Given the description of an element on the screen output the (x, y) to click on. 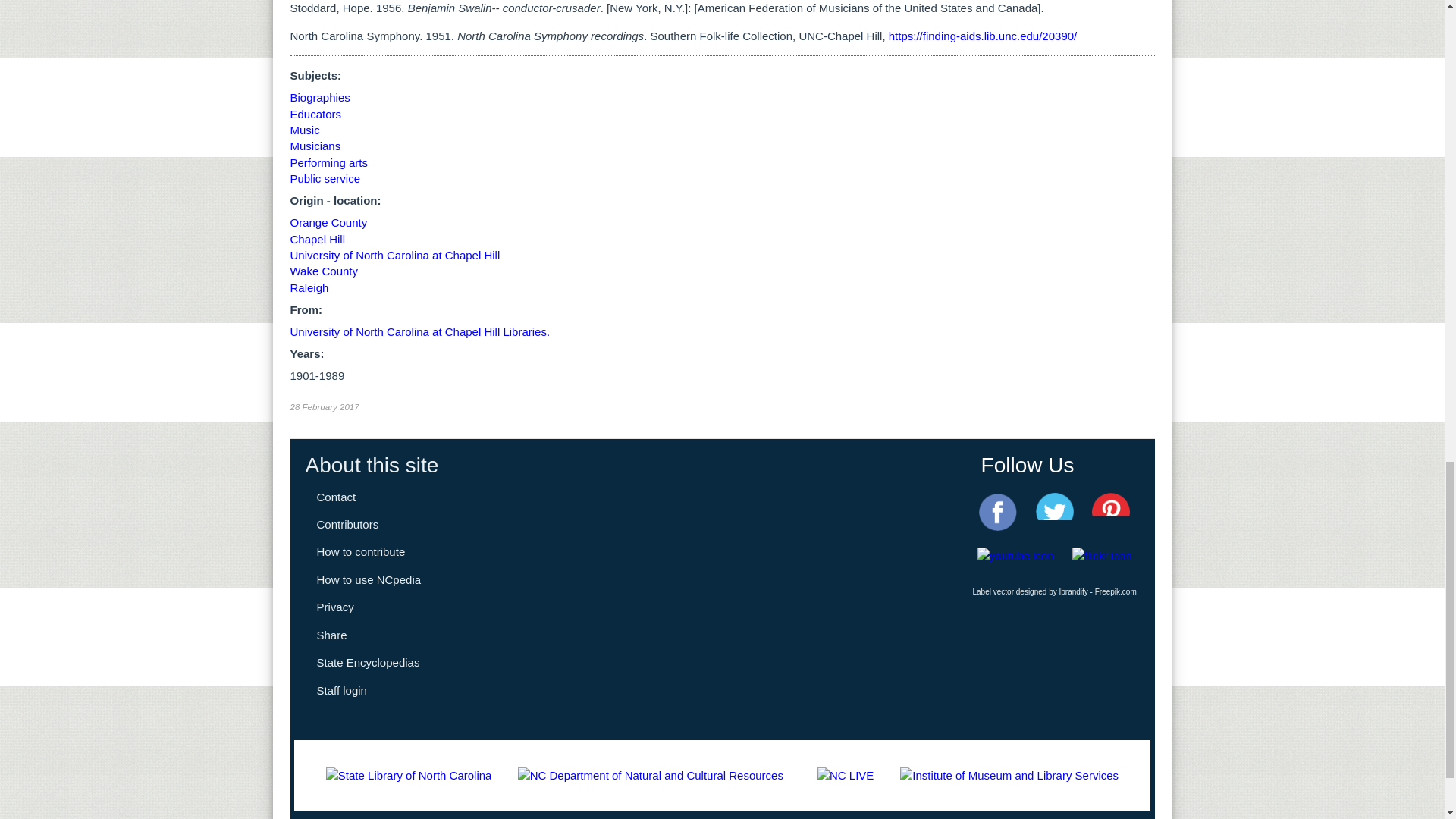
Wake County (322, 270)
Musicians (314, 145)
Educators (314, 113)
State Encyclopedias (368, 662)
How to contribute (361, 551)
Contact (336, 496)
Performing arts (328, 162)
Music (303, 129)
Staff login (341, 689)
How to use NCpedia (369, 579)
